Given the description of an element on the screen output the (x, y) to click on. 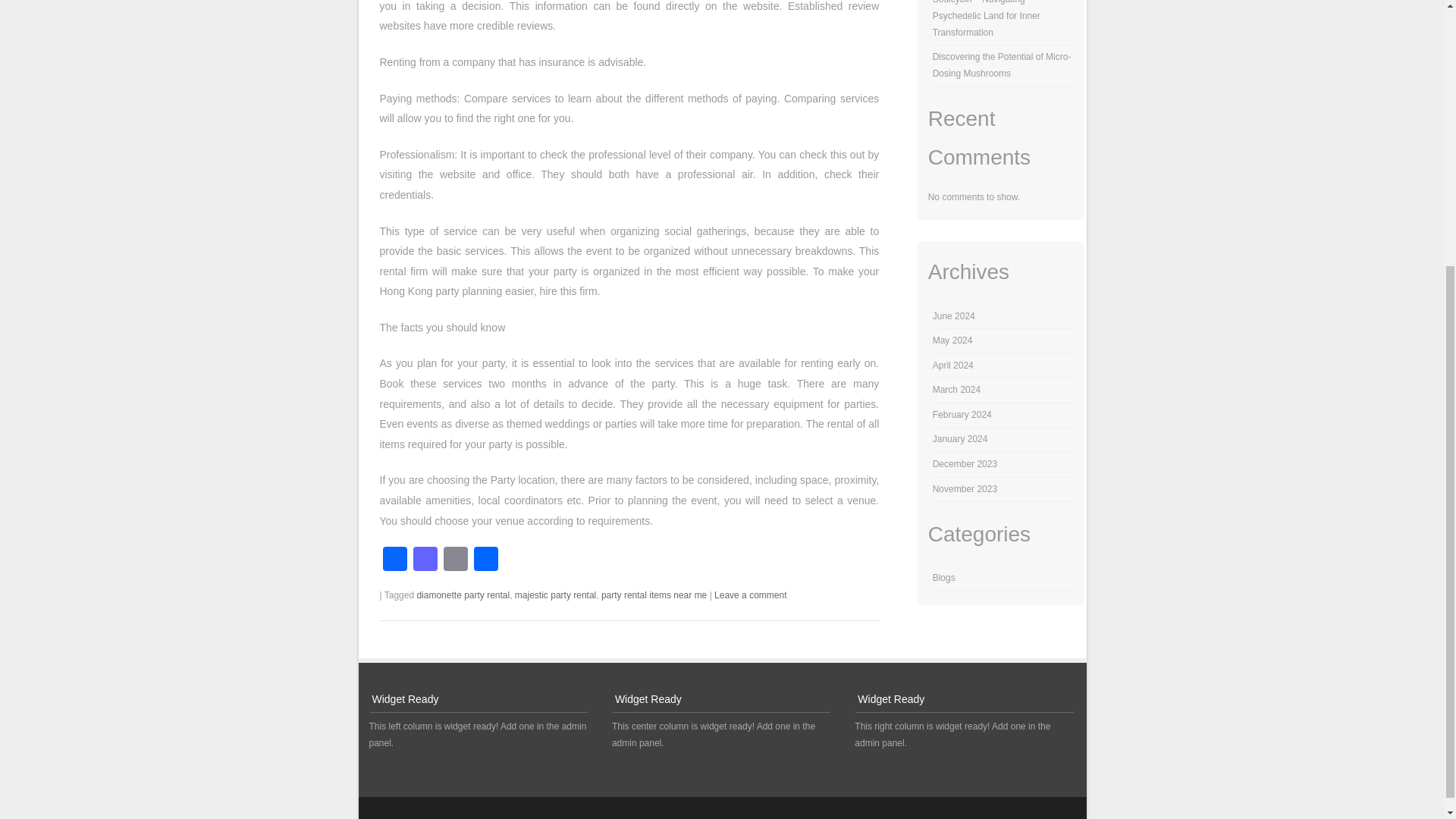
January 2024 (960, 439)
Email (454, 560)
April 2024 (953, 365)
Facebook (393, 560)
diamonette party rental (462, 594)
Mastodon (424, 560)
Facebook (393, 560)
December 2023 (965, 463)
majestic party rental (555, 594)
February 2024 (962, 414)
Leave a comment (750, 594)
Email (454, 560)
November 2023 (965, 489)
Mastodon (424, 560)
Share (485, 560)
